Given the description of an element on the screen output the (x, y) to click on. 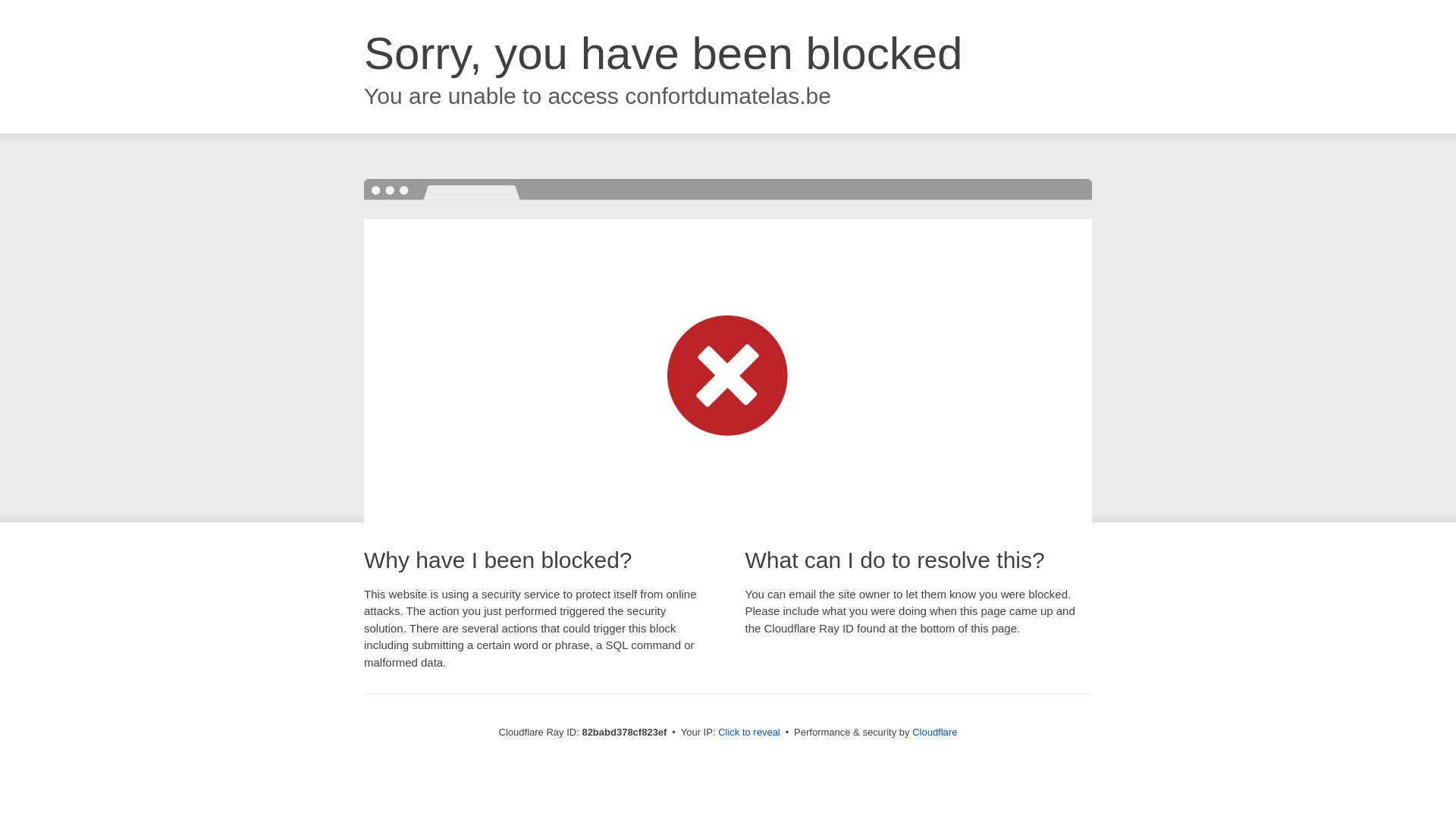
Click to reveal Element type: text (749, 732)
Cloudflare Element type: text (934, 731)
